Given the description of an element on the screen output the (x, y) to click on. 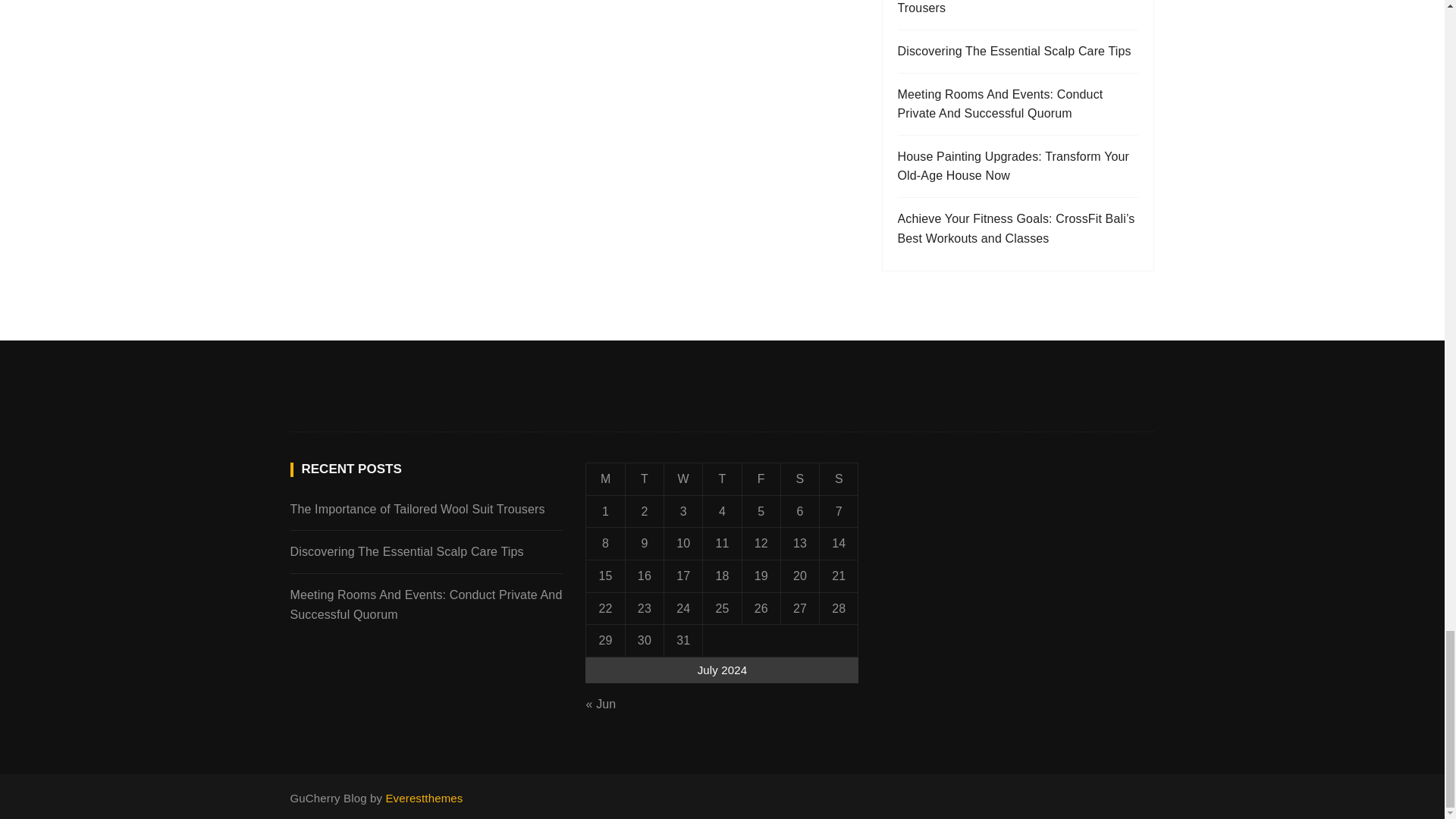
Tuesday (643, 479)
Friday (760, 479)
Sunday (839, 479)
Saturday (799, 479)
Monday (605, 479)
Thursday (722, 479)
Wednesday (683, 479)
